Given the description of an element on the screen output the (x, y) to click on. 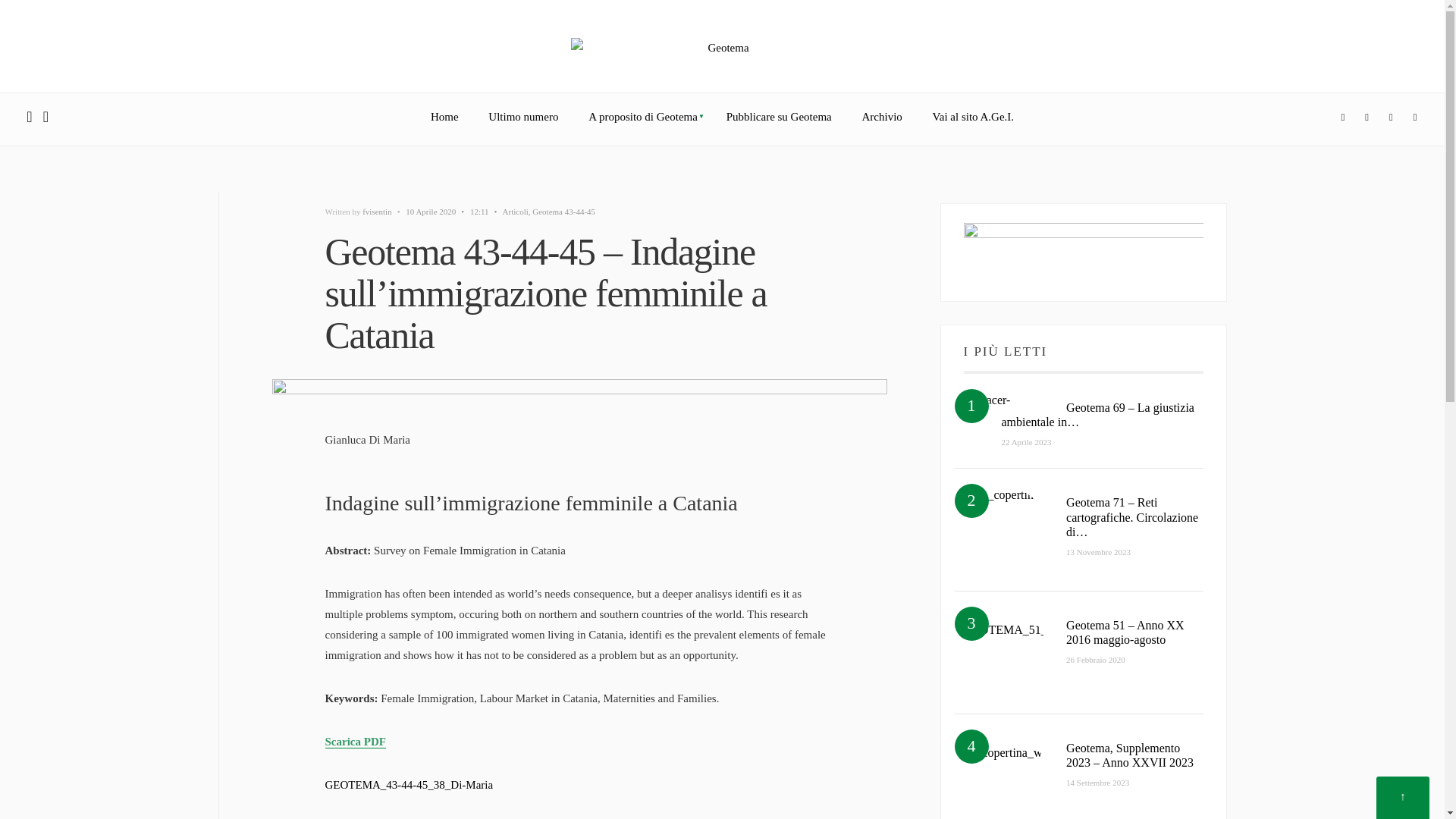
Ultimo numero (523, 117)
Geotema 51 - Anno XX 2016 maggio-agosto (1004, 652)
YouTube (1415, 117)
Vai al sito A.Ge.I. (972, 117)
Facebook (1343, 117)
Scarica PDF (354, 741)
Articoli scritti da fvisentin (376, 211)
Home (443, 117)
A proposito di Geotema (642, 117)
Articoli (515, 211)
